Given the description of an element on the screen output the (x, y) to click on. 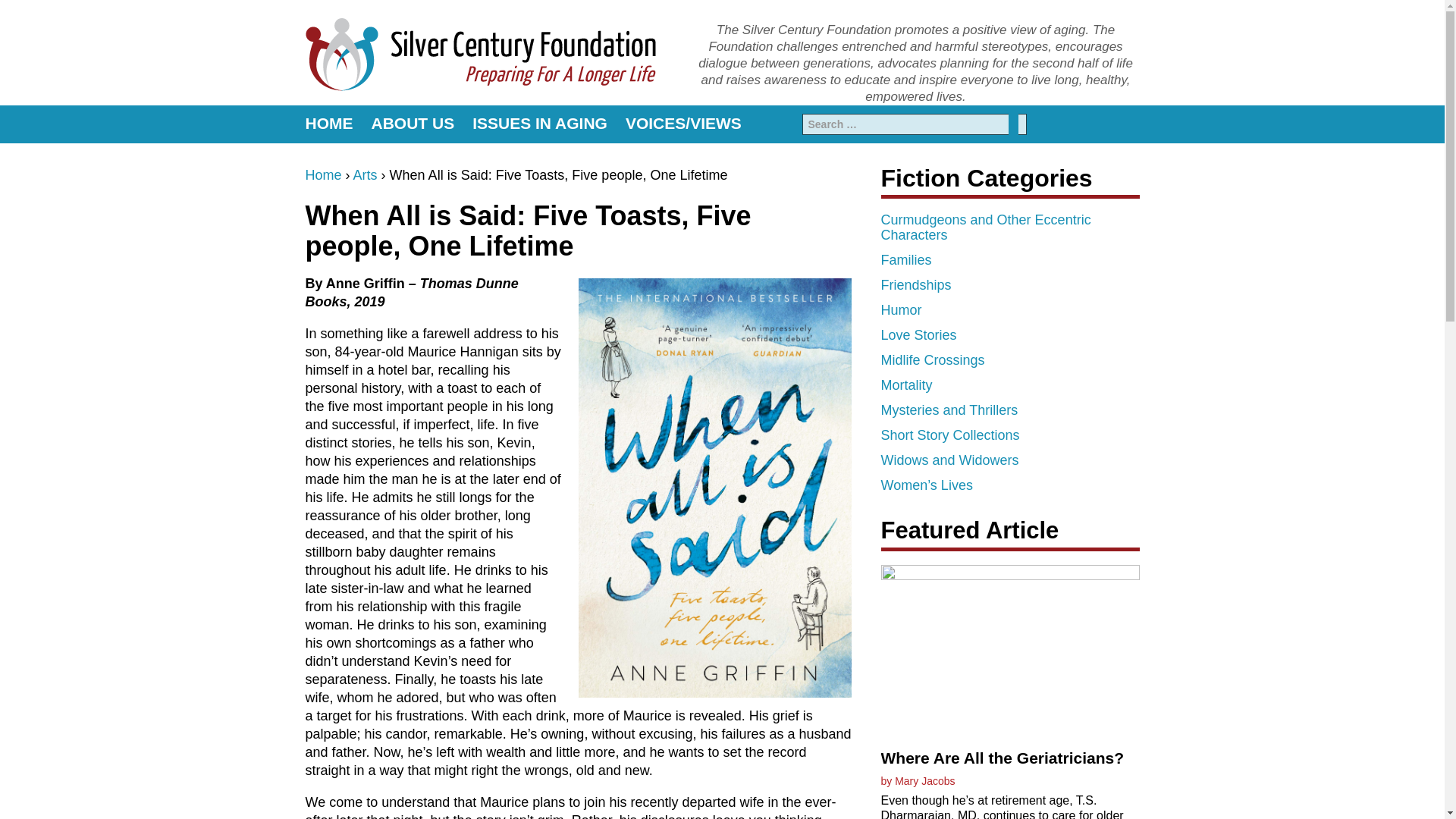
Silver Century Foundation (479, 52)
Arts (365, 174)
Home (322, 174)
ISSUES IN AGING (539, 123)
ABOUT US (413, 123)
FACEBOOK (1076, 124)
HOME (332, 123)
TWITTER (1128, 124)
PINTEREST (1101, 124)
